Given the description of an element on the screen output the (x, y) to click on. 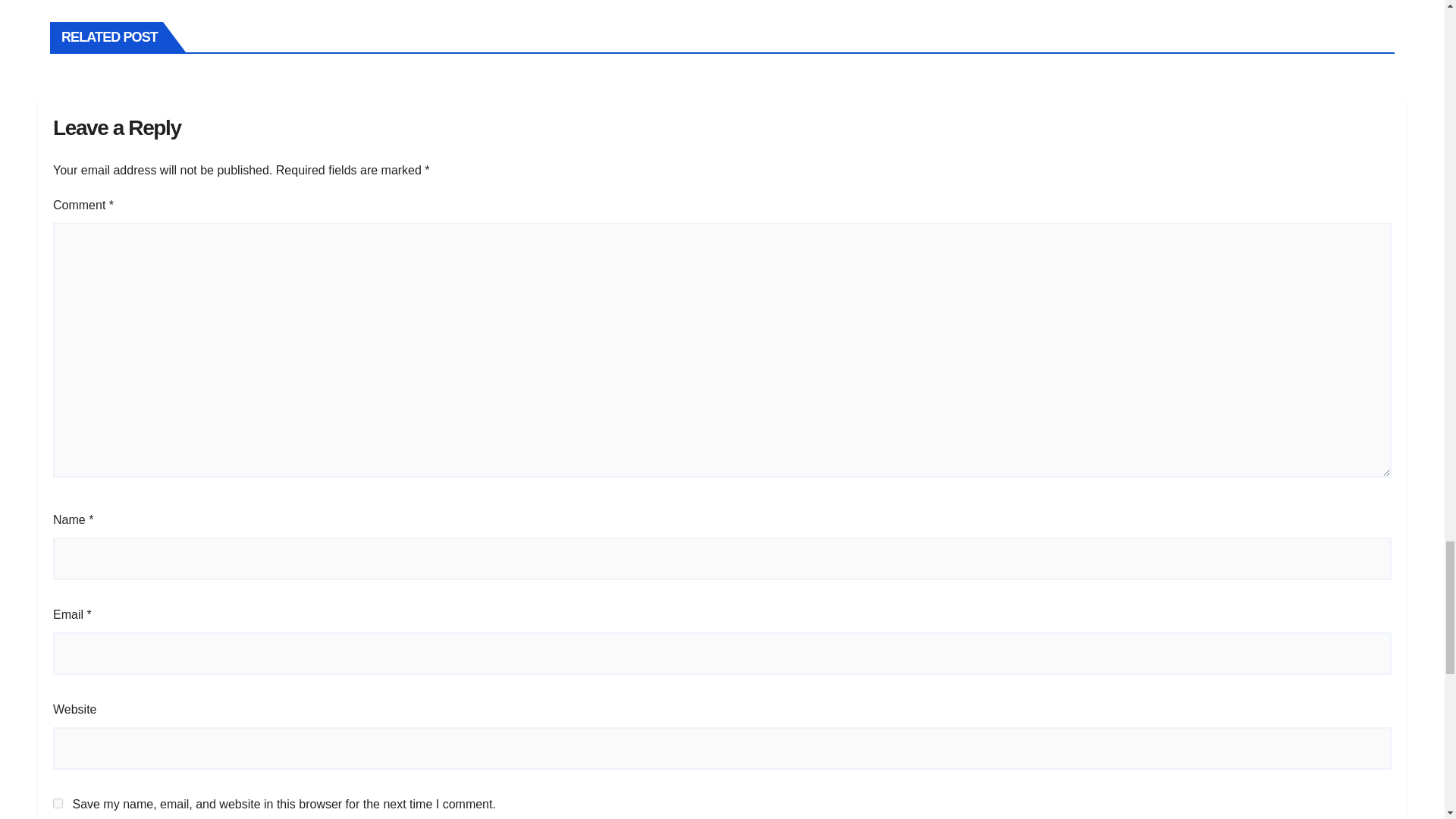
yes (57, 803)
